Given the description of an element on the screen output the (x, y) to click on. 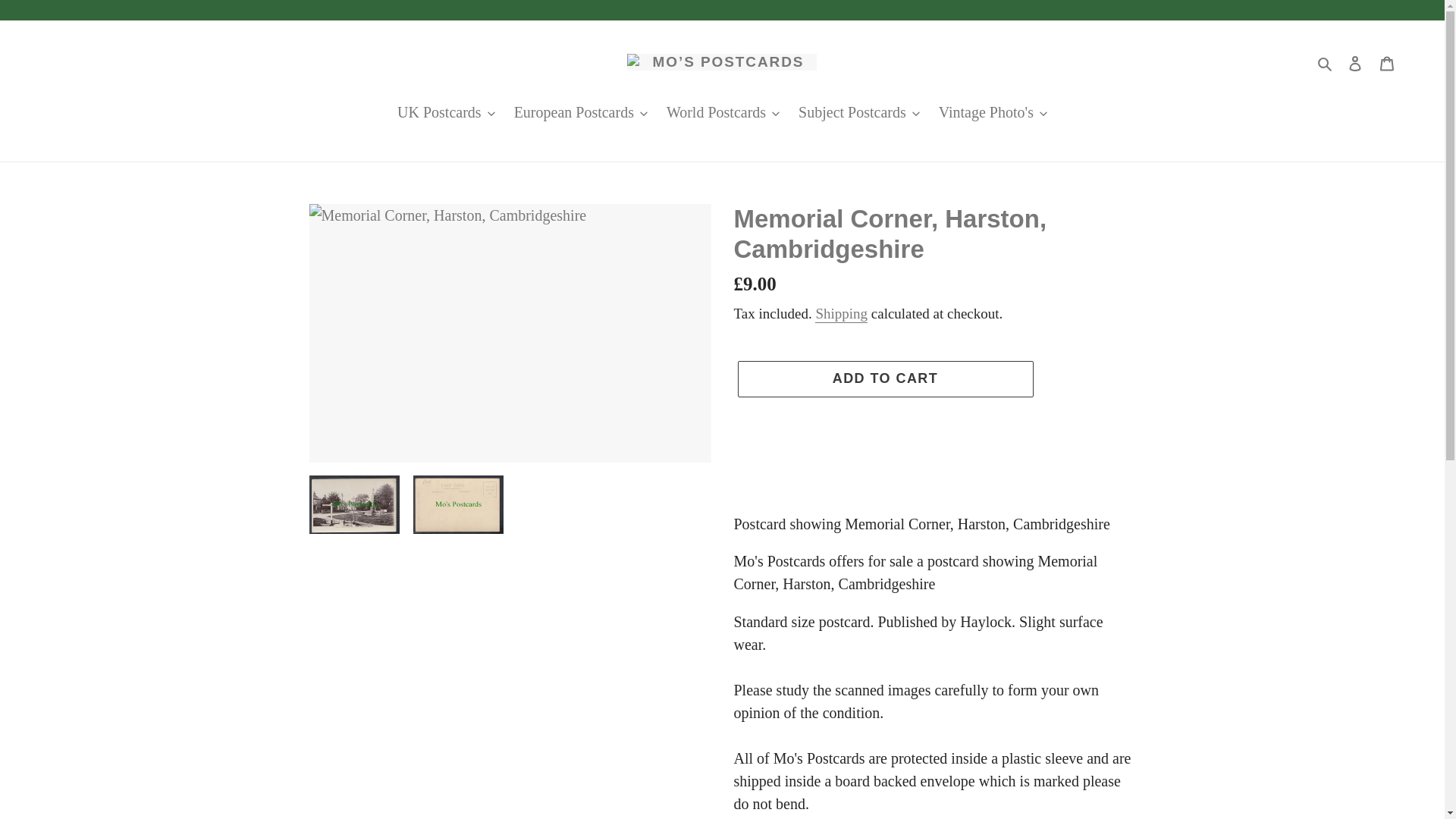
Cart (1387, 62)
Log in (1355, 62)
Search (1326, 61)
